Given the description of an element on the screen output the (x, y) to click on. 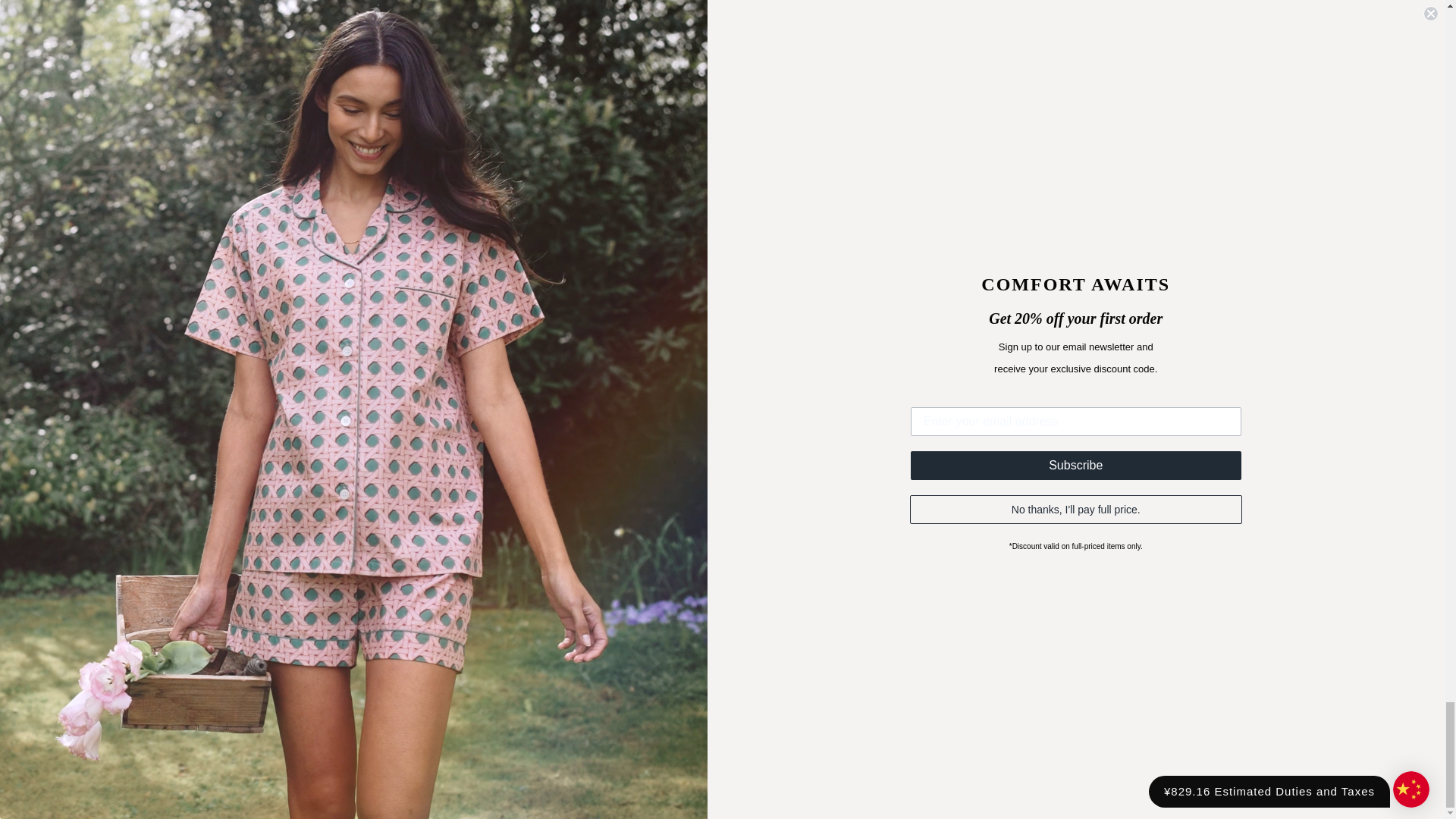
Facebook (75, 280)
Twitter (46, 280)
